Given the description of an element on the screen output the (x, y) to click on. 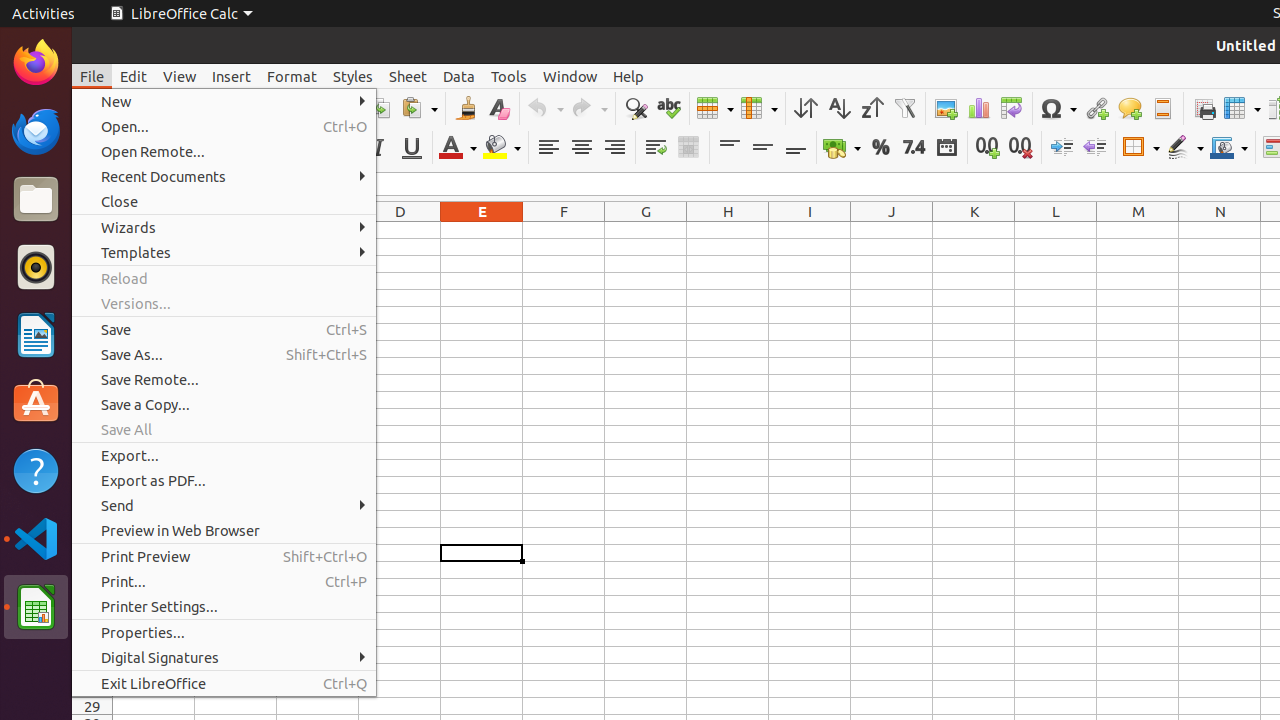
Comment Element type: push-button (1129, 108)
Open Remote... Element type: menu-item (224, 151)
Border Style Element type: push-button (1185, 147)
Align Center Element type: push-button (581, 147)
Align Left Element type: push-button (548, 147)
